Given the description of an element on the screen output the (x, y) to click on. 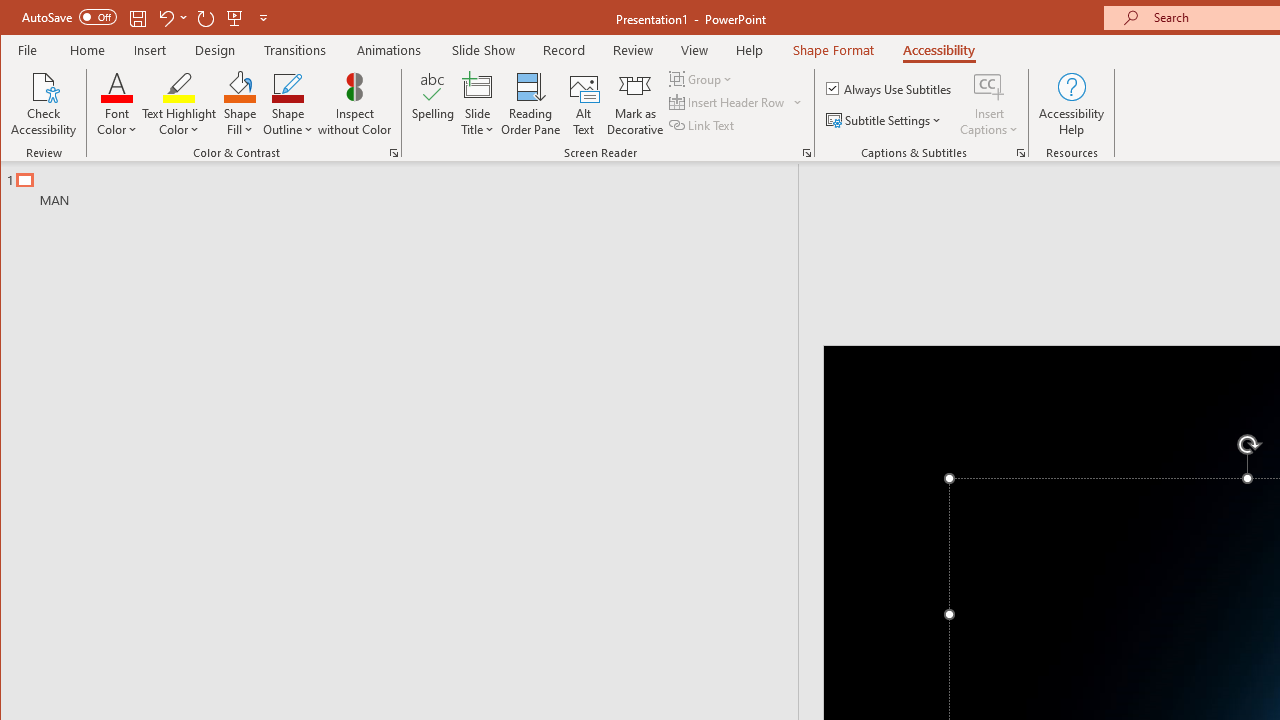
Group (701, 78)
Text Highlight Color No Color (178, 86)
Color & Contrast (393, 152)
Shape Outline Blue, Accent 1 (288, 86)
Reading Order Pane (531, 104)
Slide Title (477, 104)
Accessibility Help (1071, 104)
Outline (408, 185)
